Given the description of an element on the screen output the (x, y) to click on. 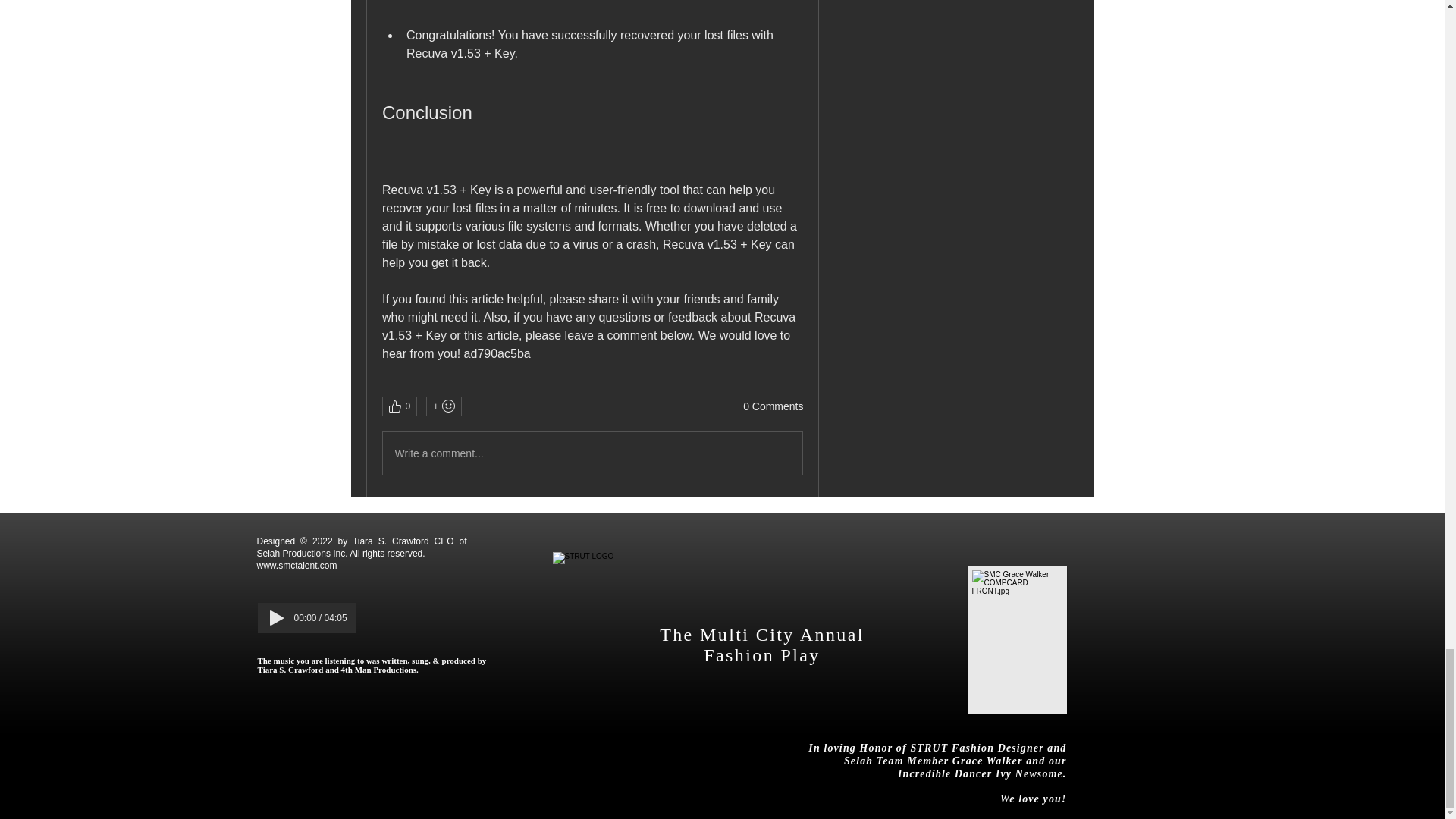
Write a comment... (591, 453)
www.smctalent.com (296, 565)
0 Comments (772, 406)
